Given the description of an element on the screen output the (x, y) to click on. 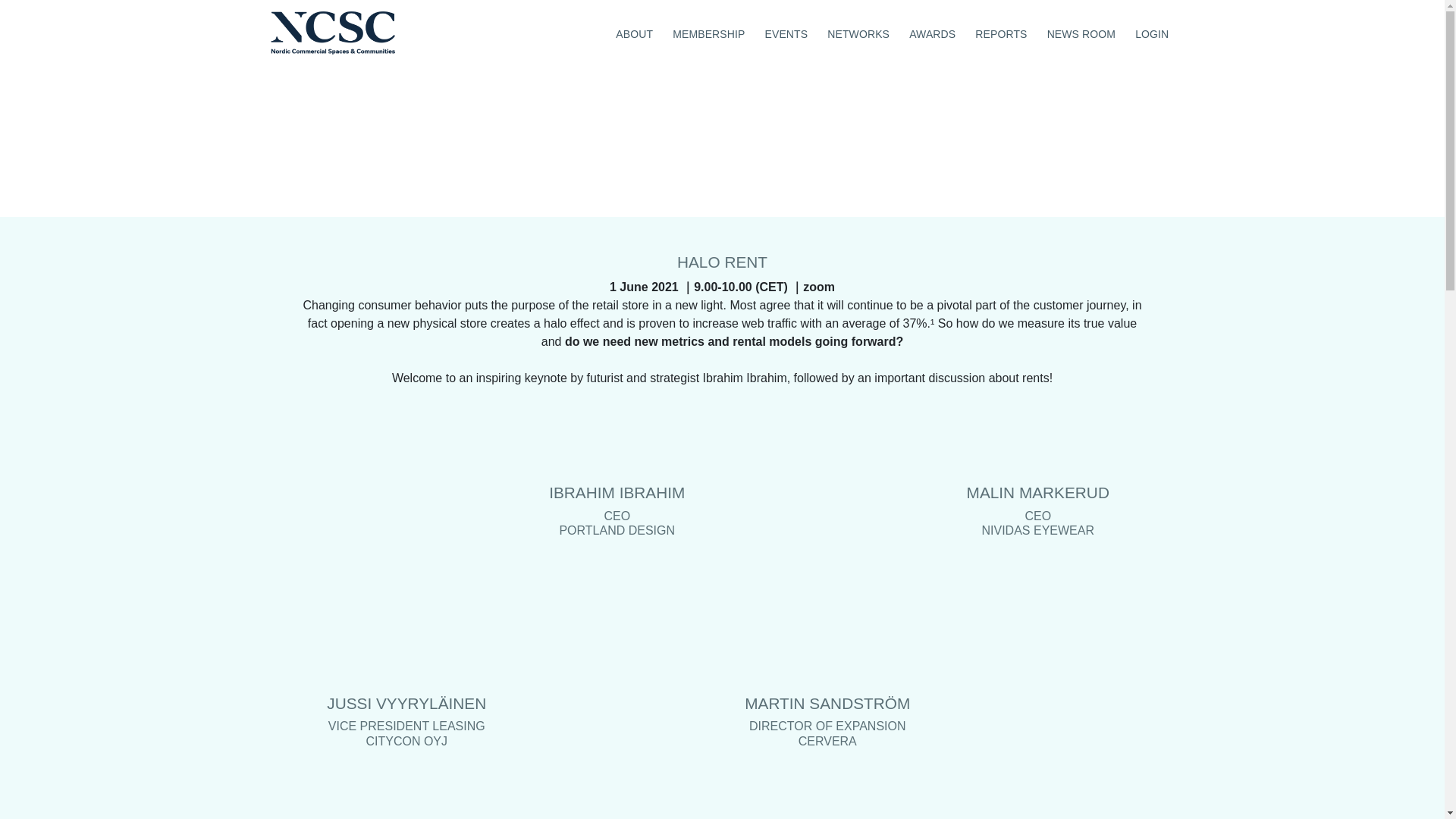
EVENTS (786, 31)
NETWORKS (857, 31)
AWARDS (932, 31)
MEMBERSHIP (708, 31)
REPORTS (1001, 31)
NEWS ROOM (1080, 31)
